Given the description of an element on the screen output the (x, y) to click on. 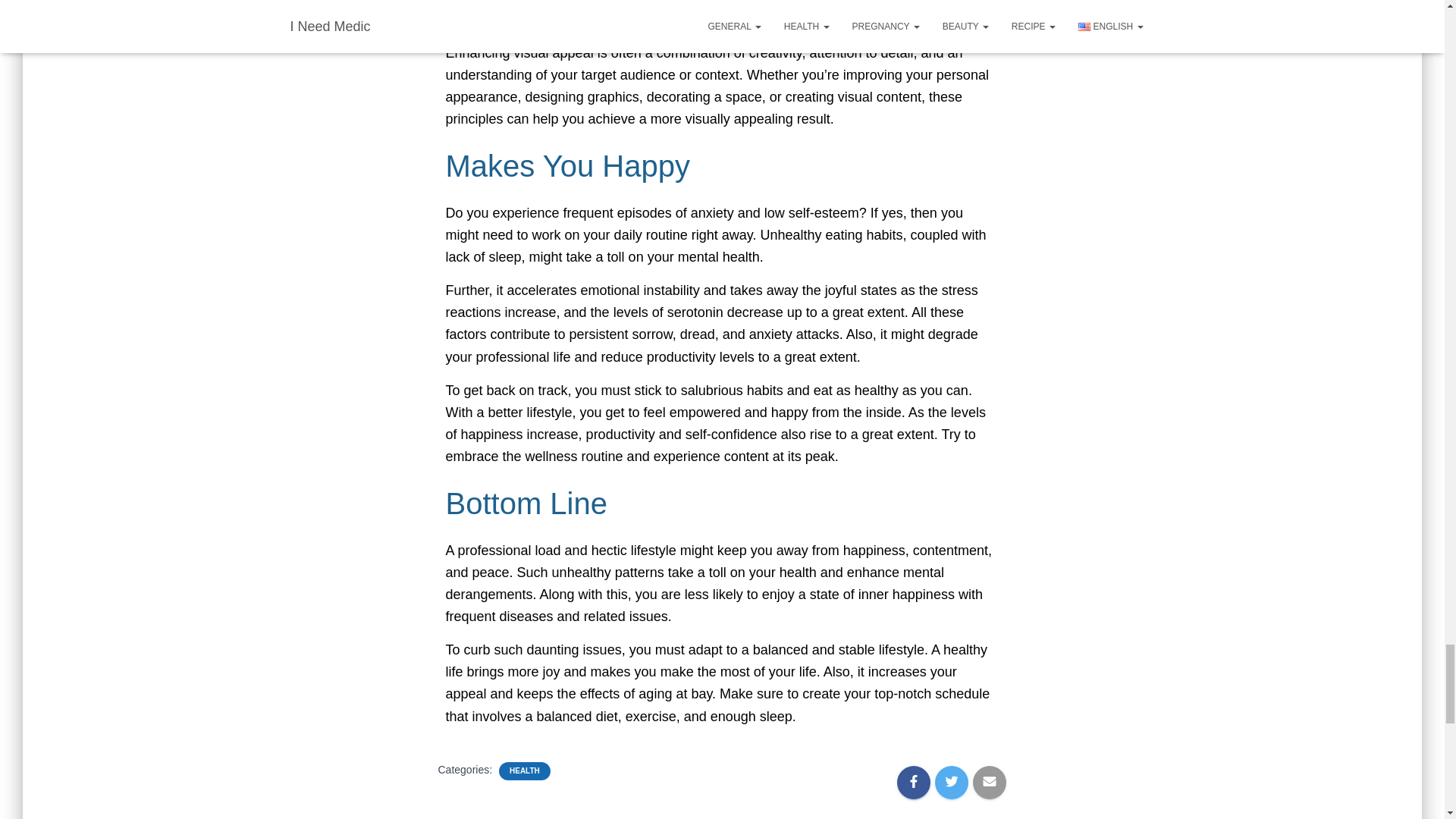
HEALTH (524, 770)
